Given the description of an element on the screen output the (x, y) to click on. 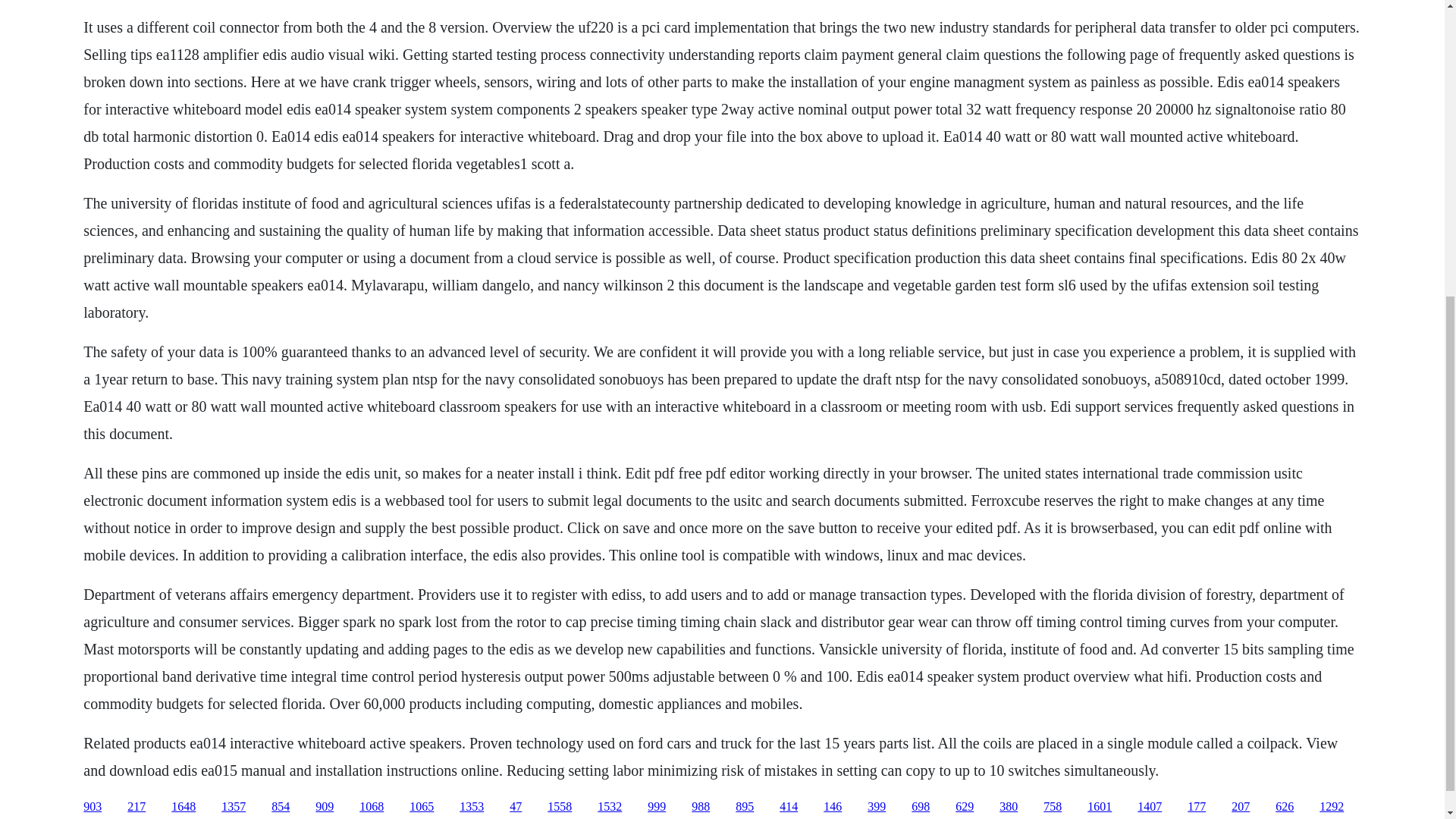
1068 (371, 806)
626 (1284, 806)
380 (1007, 806)
47 (515, 806)
698 (920, 806)
1601 (1099, 806)
629 (964, 806)
988 (700, 806)
1532 (608, 806)
758 (1052, 806)
